Given the description of an element on the screen output the (x, y) to click on. 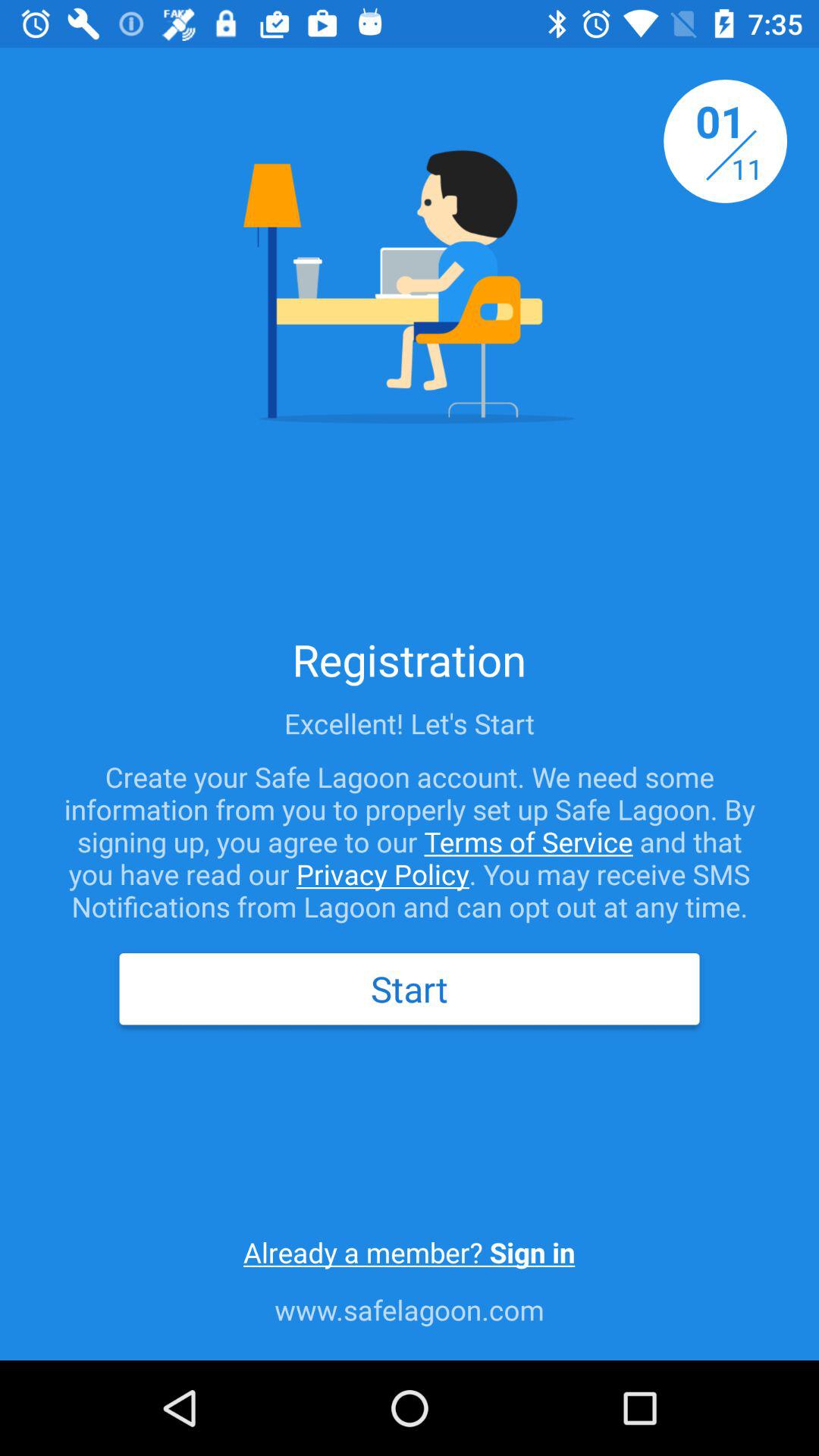
select the create your safe icon (409, 841)
